Given the description of an element on the screen output the (x, y) to click on. 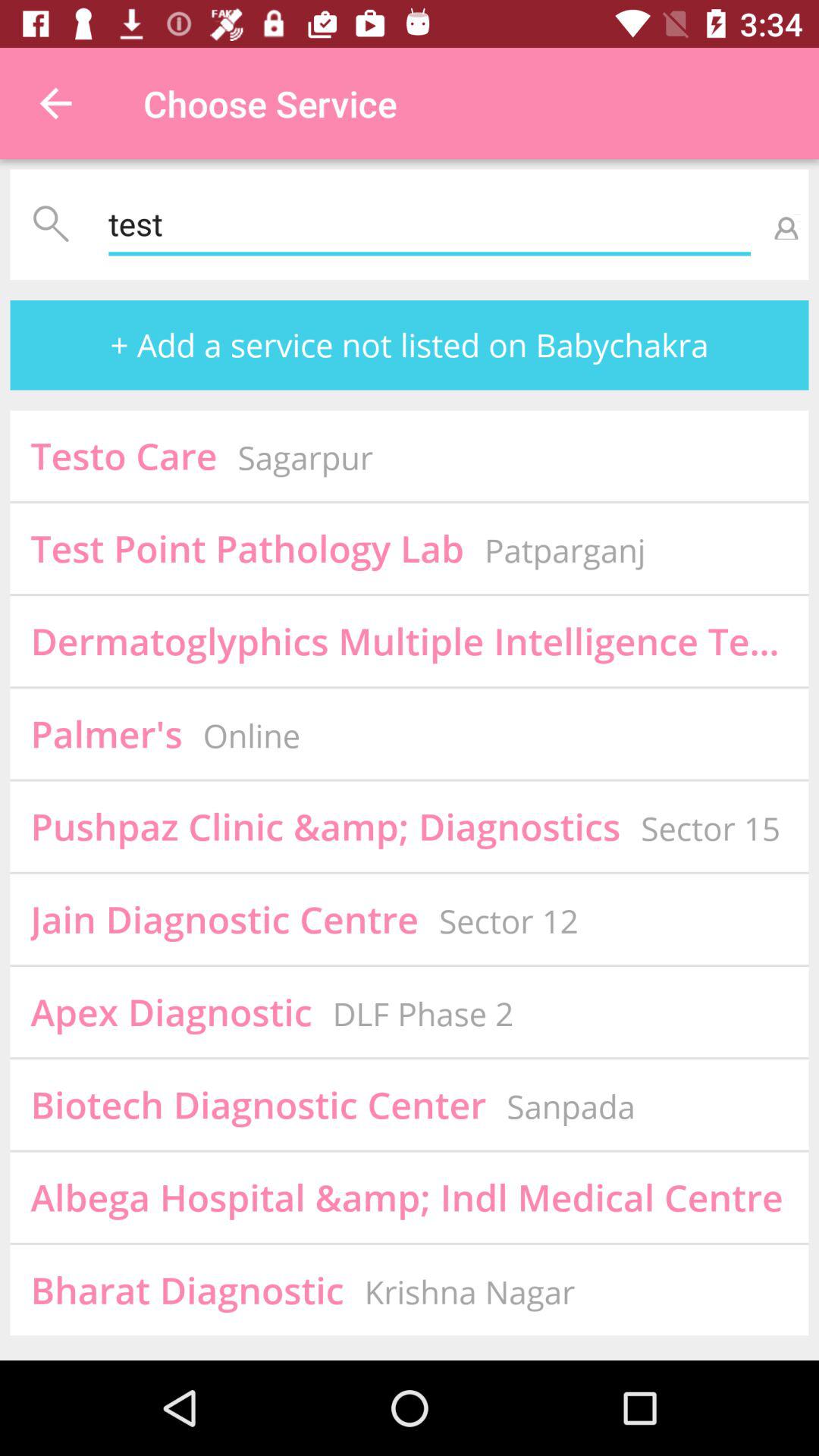
press icon to the left of the choose service (55, 103)
